Given the description of an element on the screen output the (x, y) to click on. 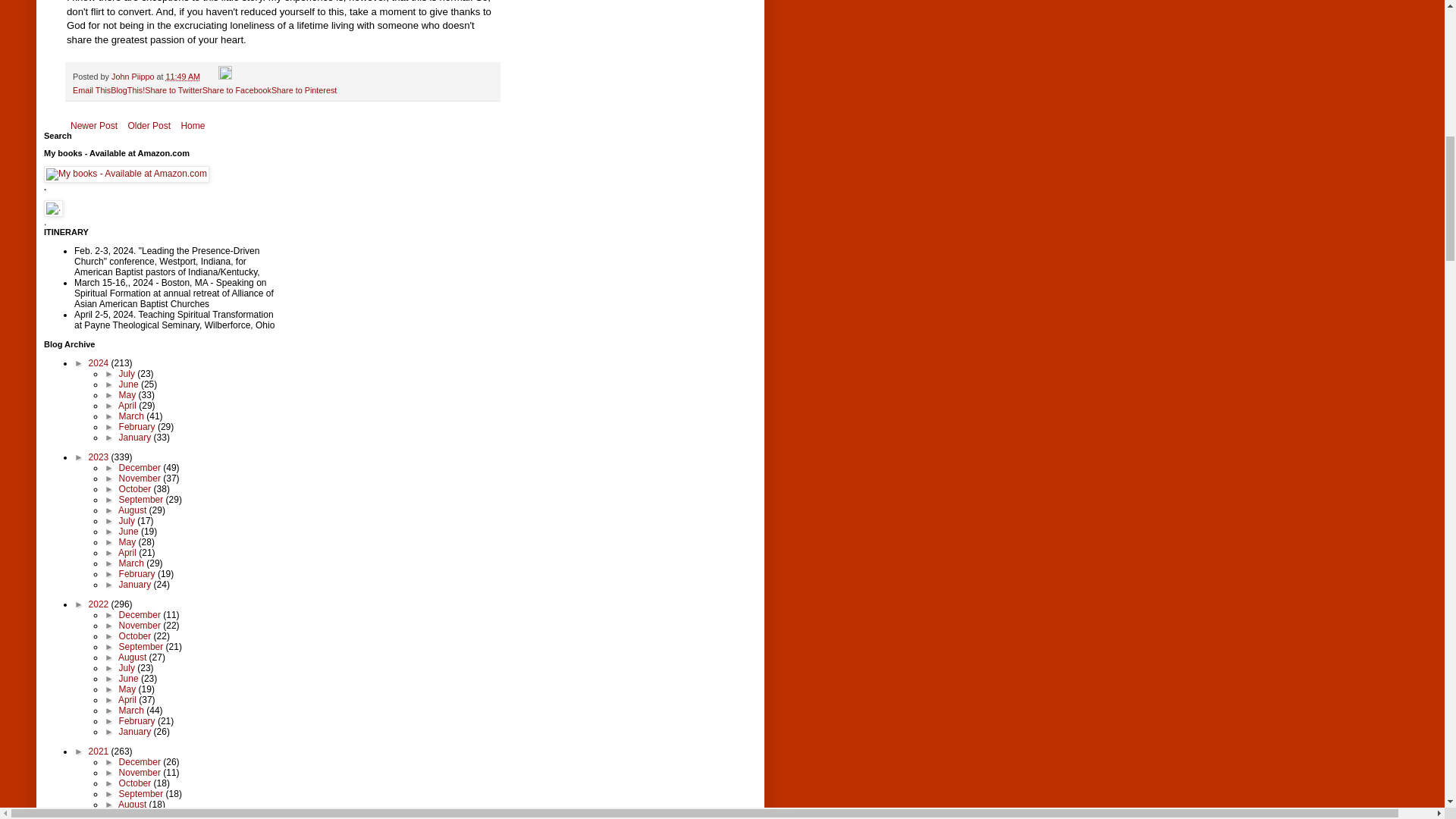
Older Post (148, 126)
author profile (133, 76)
Email Post (210, 76)
2023 (100, 457)
Email This (91, 90)
Older Post (148, 126)
BlogThis! (127, 90)
Share to Facebook (236, 90)
Edit Post (224, 76)
February (138, 426)
Share to Twitter (173, 90)
2024 (100, 362)
Newer Post (93, 126)
May (128, 394)
Share to Twitter (173, 90)
